Given the description of an element on the screen output the (x, y) to click on. 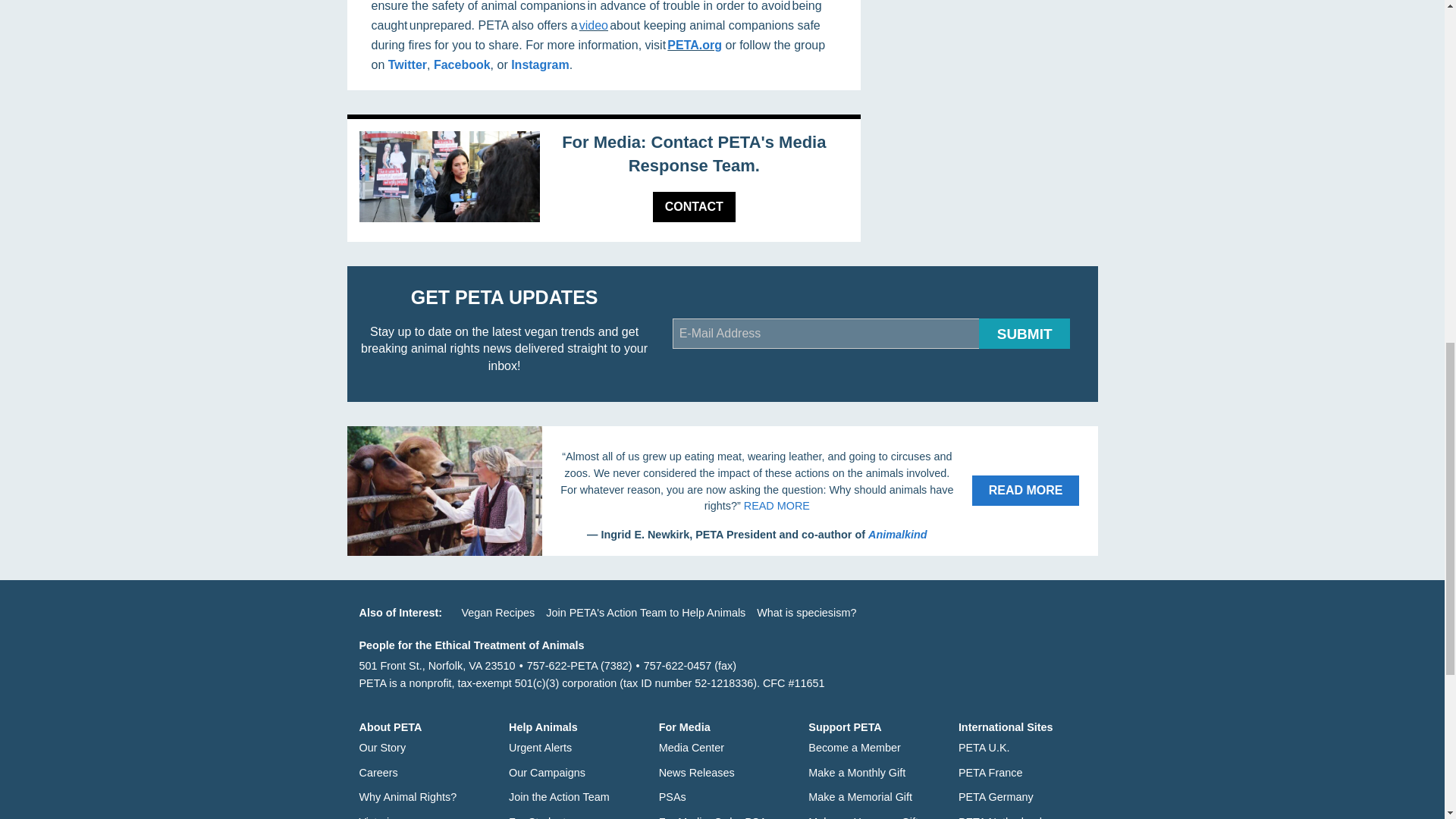
Submit (1024, 333)
